Given the description of an element on the screen output the (x, y) to click on. 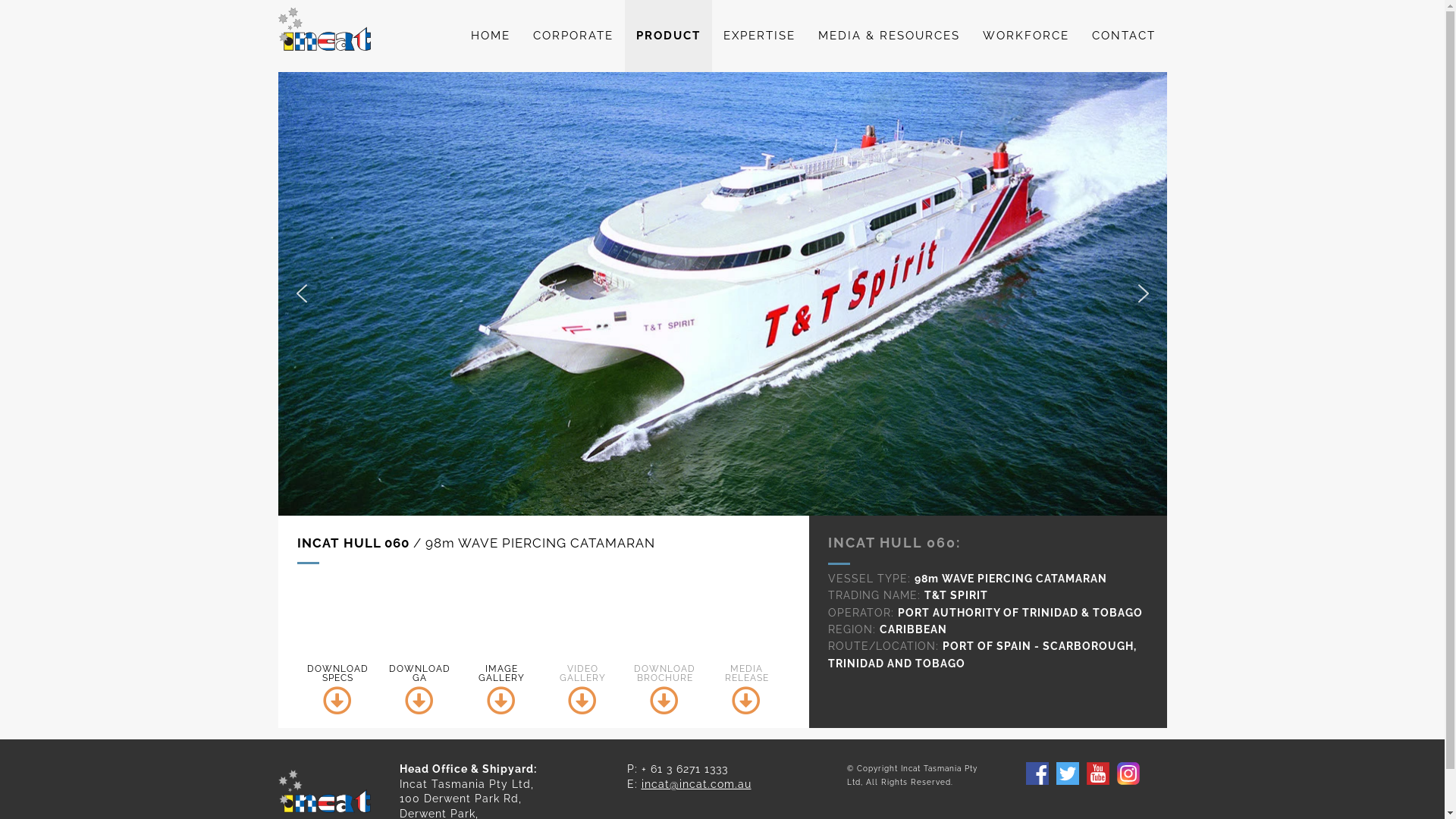
CONTACT Element type: text (1122, 36)
HOME Element type: text (490, 36)
incat@incat.com.au Element type: text (696, 784)
EXPERTISE Element type: text (758, 36)
MEDIA & RESOURCES Element type: text (888, 36)
CORPORATE Element type: text (572, 36)
PRODUCT Element type: text (668, 36)
WORKFORCE Element type: text (1024, 36)
